Given the description of an element on the screen output the (x, y) to click on. 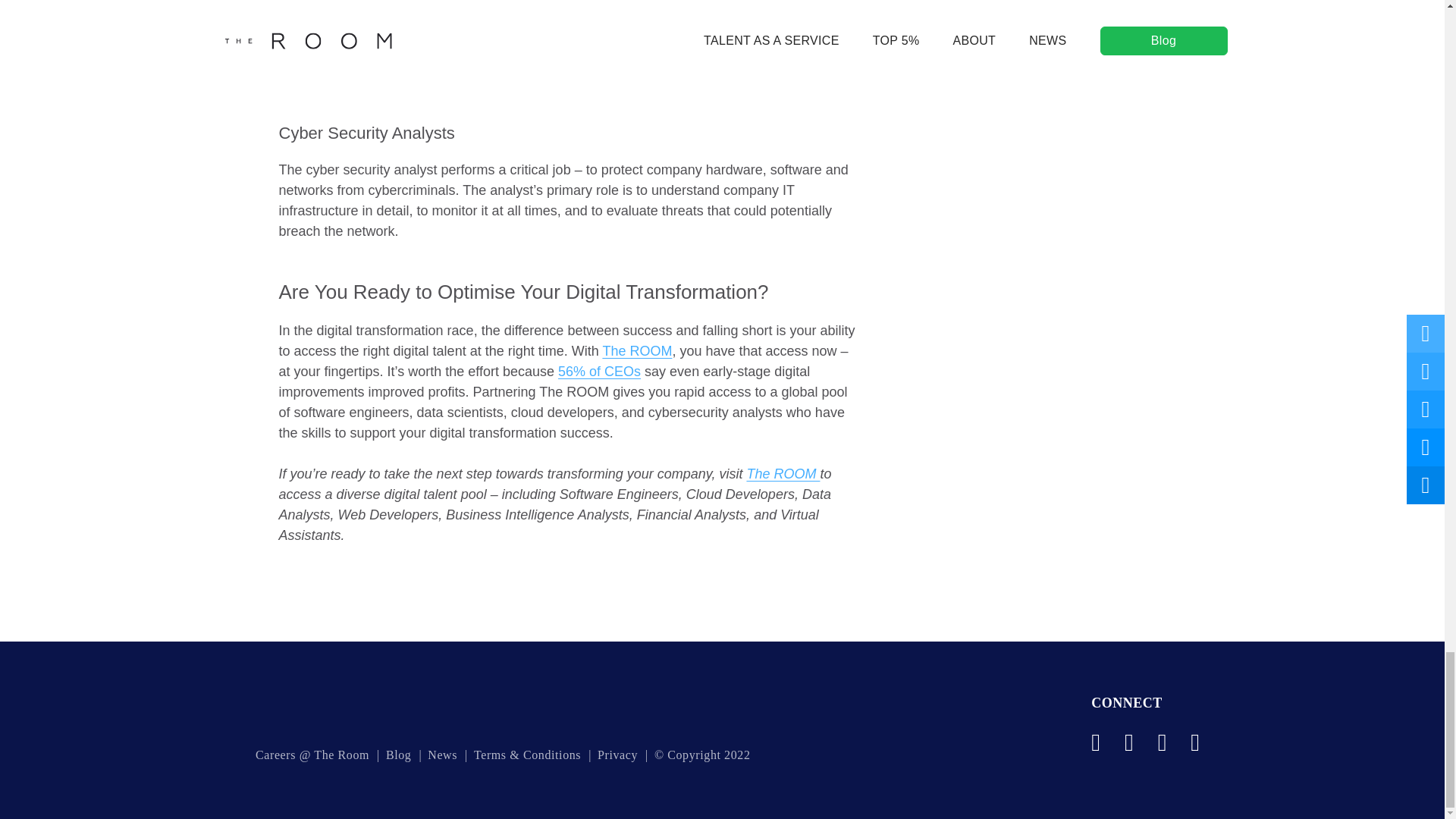
Blog (398, 754)
The ROOM (636, 350)
News (442, 754)
Privacy (616, 754)
The ROOM (782, 473)
